Given the description of an element on the screen output the (x, y) to click on. 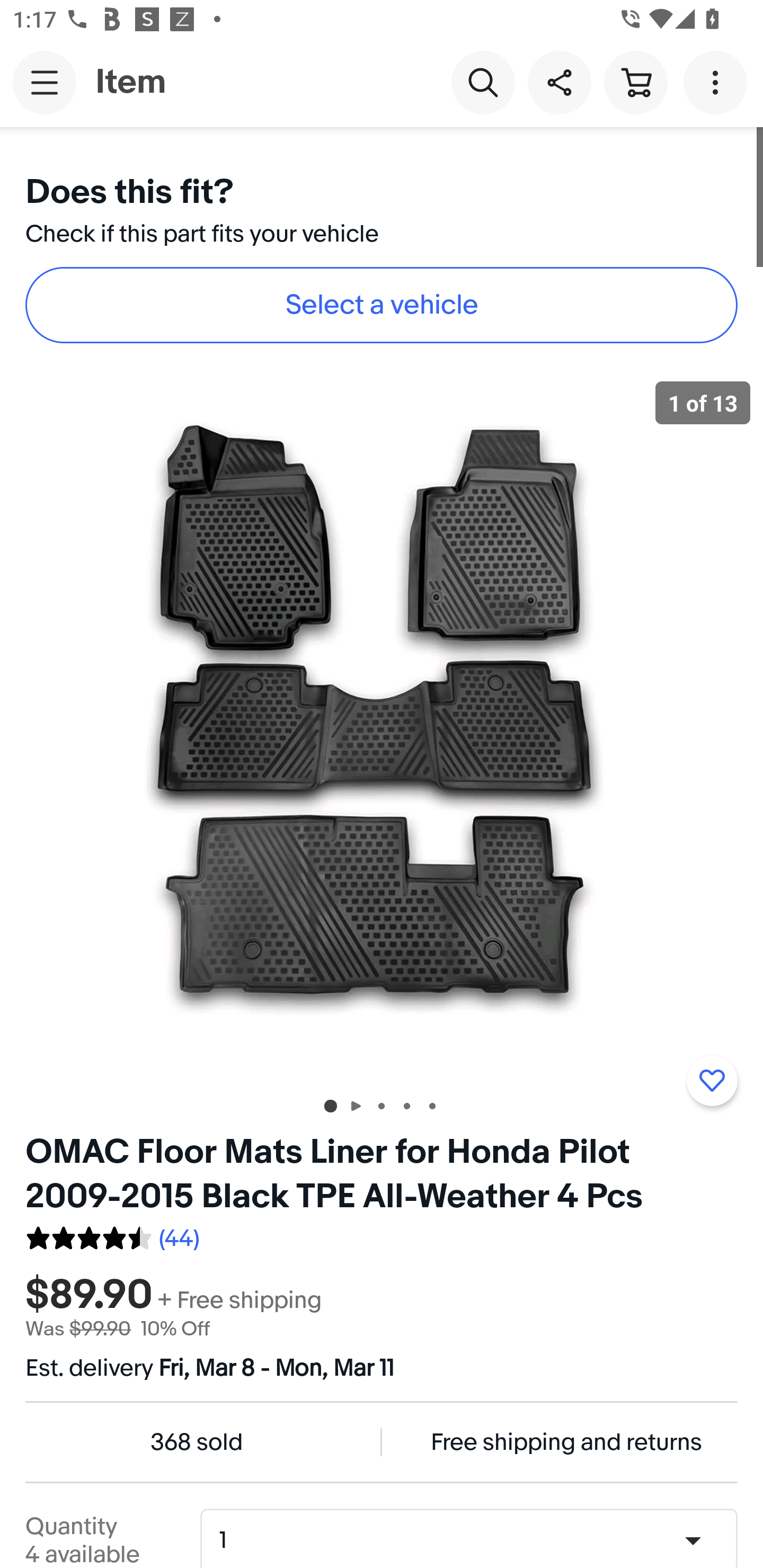
Main navigation, open (44, 82)
Search (482, 81)
Share this item (559, 81)
Cart button shopping cart (635, 81)
More options (718, 81)
Select a vehicle (381, 304)
Item image 1 of 13 (381, 724)
Add to watchlist (711, 1080)
Quantity,1,4 available 1 (474, 1540)
